Given the description of an element on the screen output the (x, y) to click on. 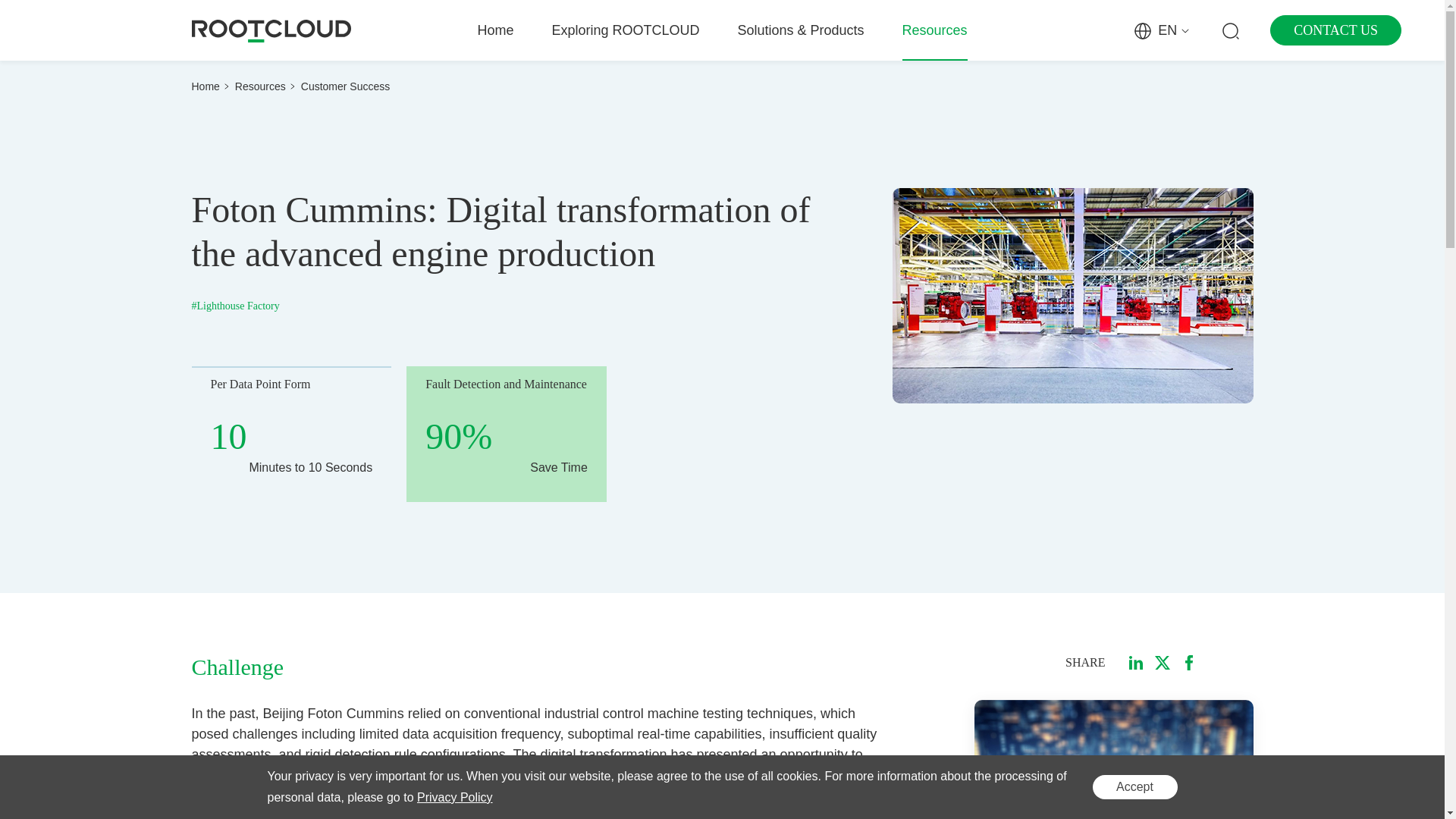
CONTACT US (1334, 30)
Exploring ROOTCLOUD (624, 30)
Share to Linkedin (1135, 662)
EN (1162, 30)
Resources (935, 30)
Share to Facebook (1188, 662)
Share to Twitter (1161, 662)
